Given the description of an element on the screen output the (x, y) to click on. 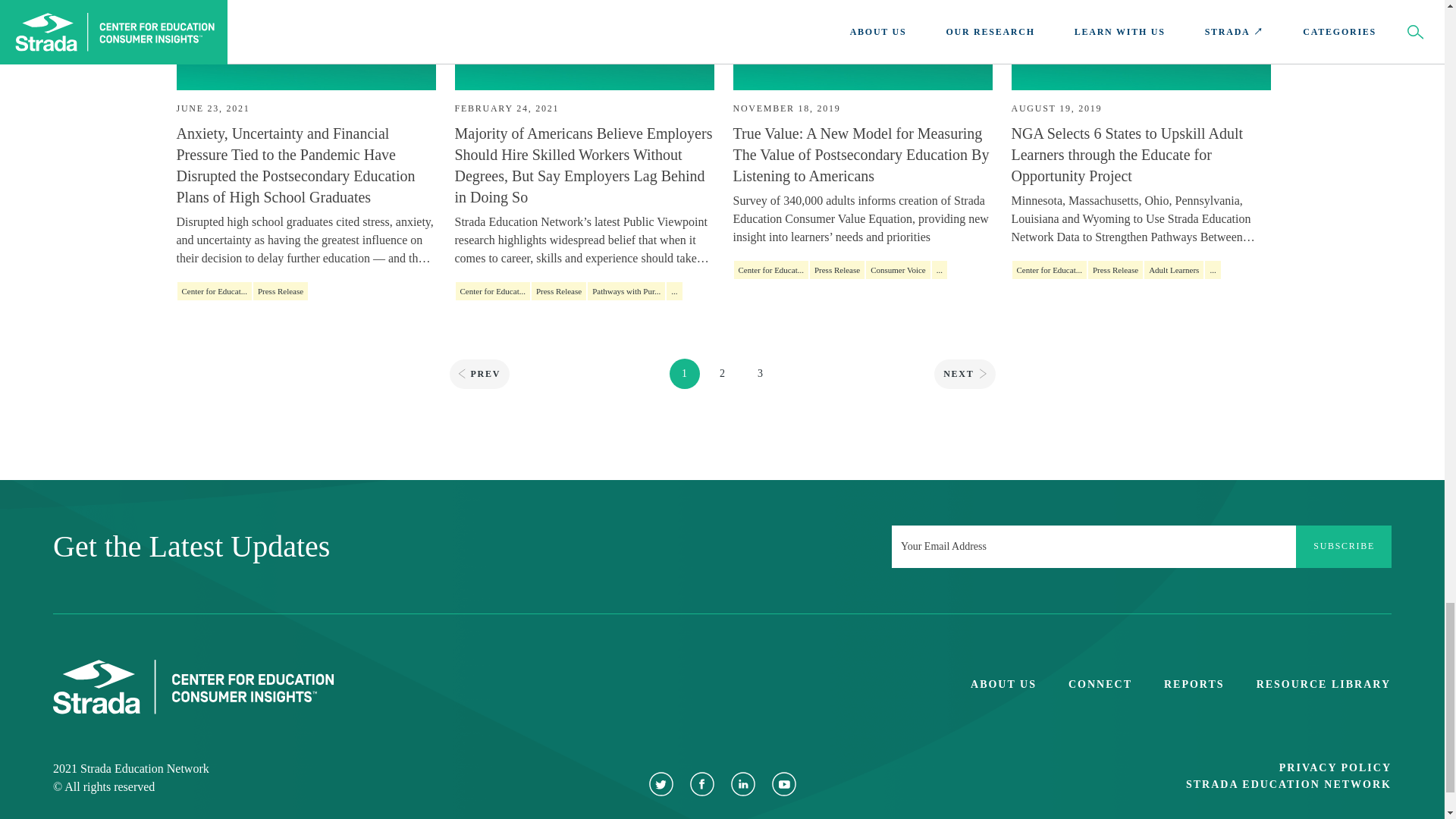
Social (701, 782)
Subscribe (1343, 546)
Group 13 (660, 784)
Group 11 (702, 784)
Group 2 (783, 784)
Social (783, 782)
Group 12 (742, 784)
Social (659, 782)
Social (742, 782)
Group 5 (192, 687)
